Given the description of an element on the screen output the (x, y) to click on. 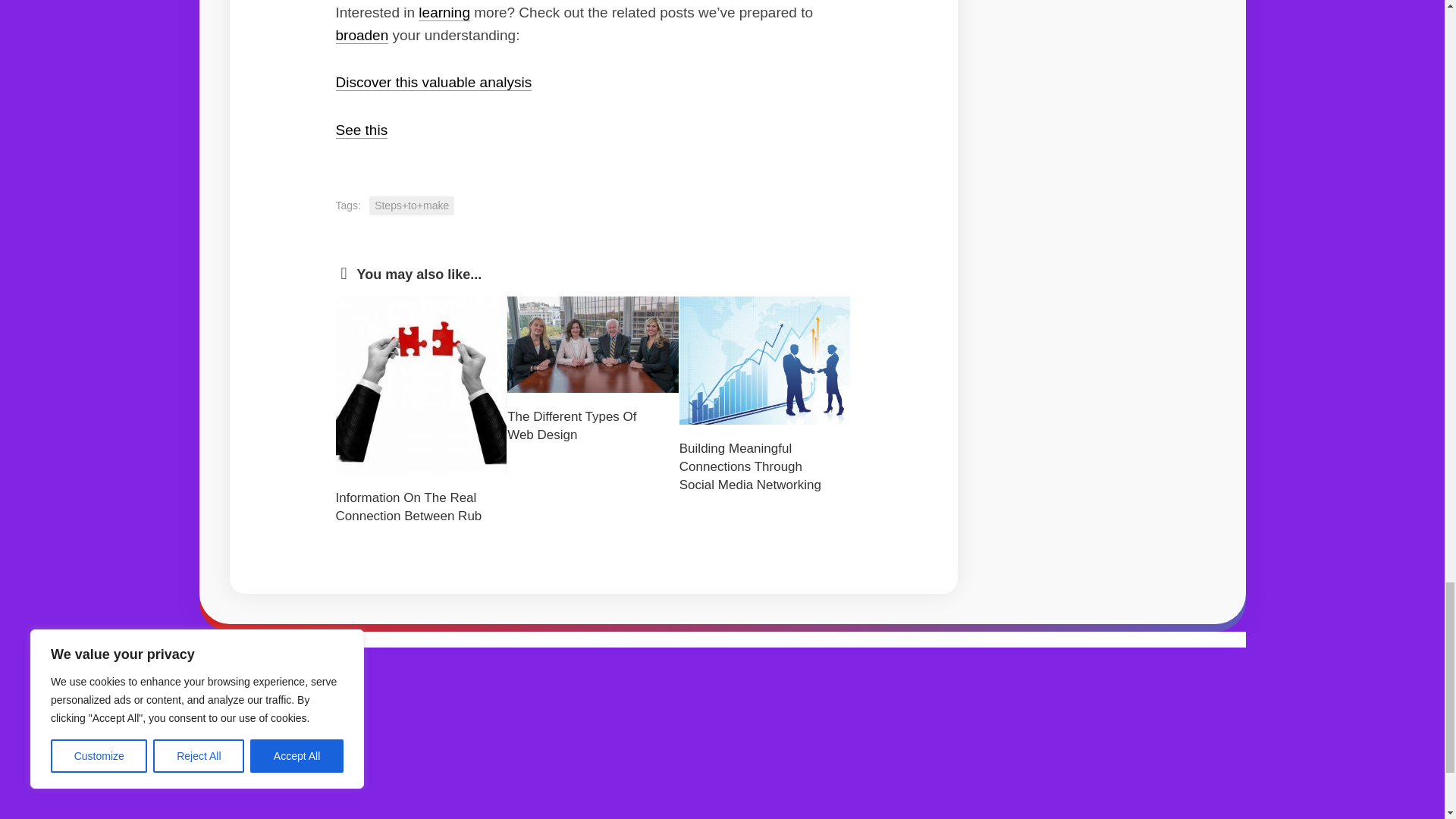
See this (360, 130)
Information On The Real Connection Between Rub (407, 506)
The Different Types Of Web Design (571, 425)
broaden (361, 35)
Discover this valuable analysis (432, 82)
learning (444, 12)
